Given the description of an element on the screen output the (x, y) to click on. 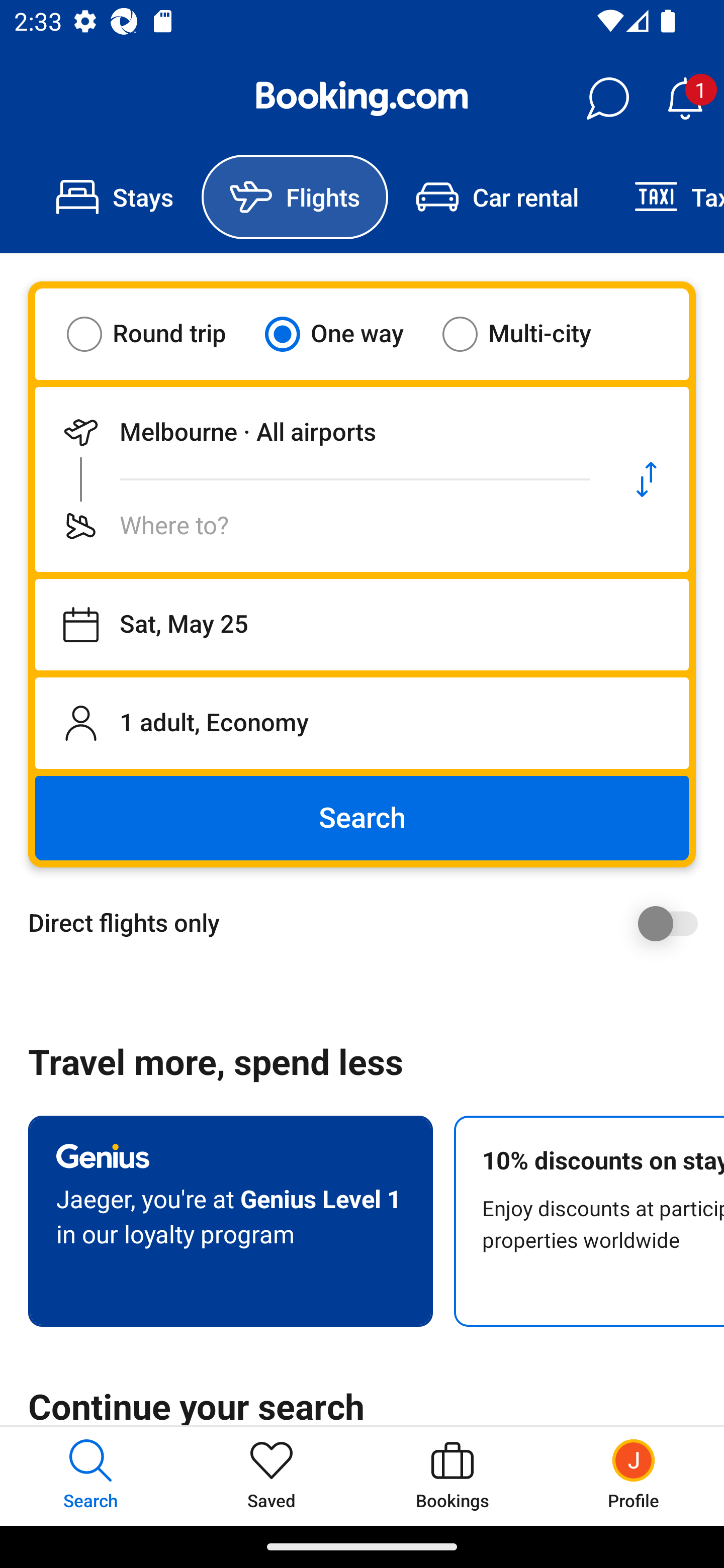
Messages (607, 98)
Notifications (685, 98)
Stays (114, 197)
Flights (294, 197)
Car rental (497, 197)
Taxi (665, 197)
Round trip (158, 333)
Multi-city (528, 333)
Departing from Melbourne · All airports (319, 432)
Swap departure location and destination (646, 479)
Flying to  (319, 525)
Departing on Sat, May 25 (361, 624)
1 adult, Economy (361, 722)
Search (361, 818)
Direct flights only (369, 923)
Saved (271, 1475)
Bookings (452, 1475)
Profile (633, 1475)
